Given the description of an element on the screen output the (x, y) to click on. 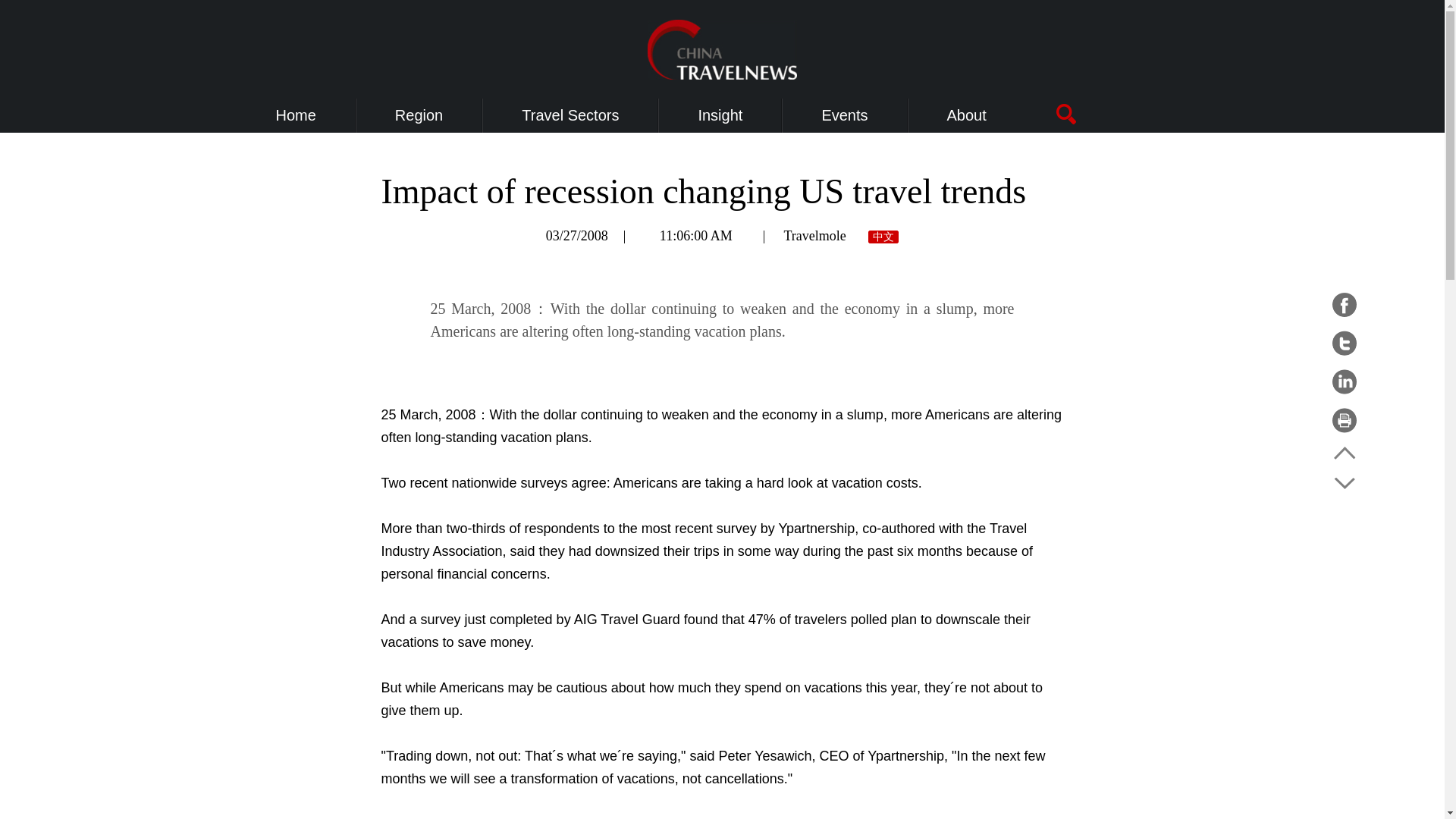
Home (295, 115)
About (967, 115)
Events (844, 115)
